Given the description of an element on the screen output the (x, y) to click on. 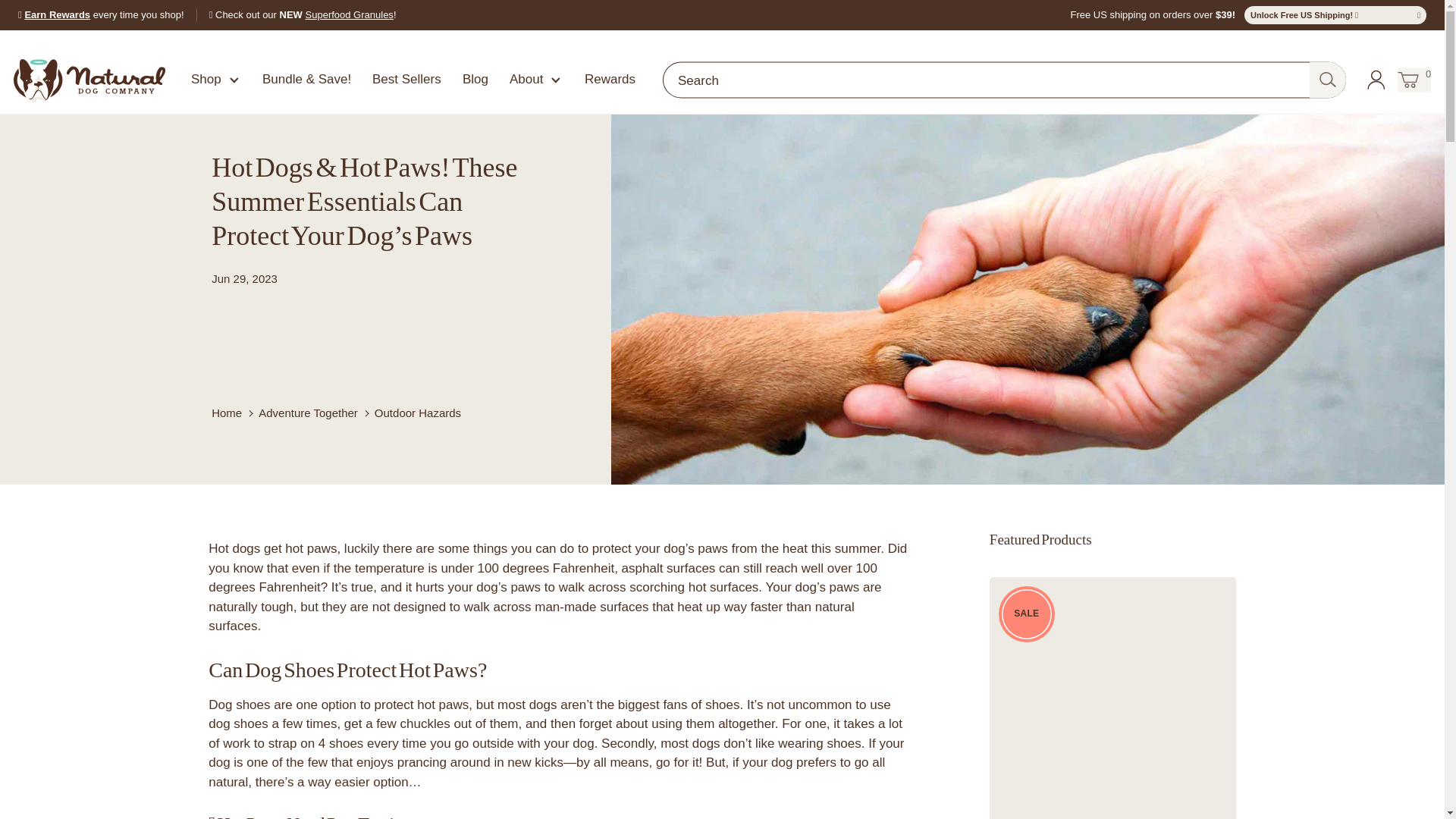
Natural Dog Company logo (1414, 79)
Best Sellers (79, 76)
Superfood Granules (406, 79)
About (349, 14)
Superfood Granules (536, 79)
Rewards (349, 14)
Loyalty Points (609, 79)
Shop (57, 14)
Search (215, 79)
